Given the description of an element on the screen output the (x, y) to click on. 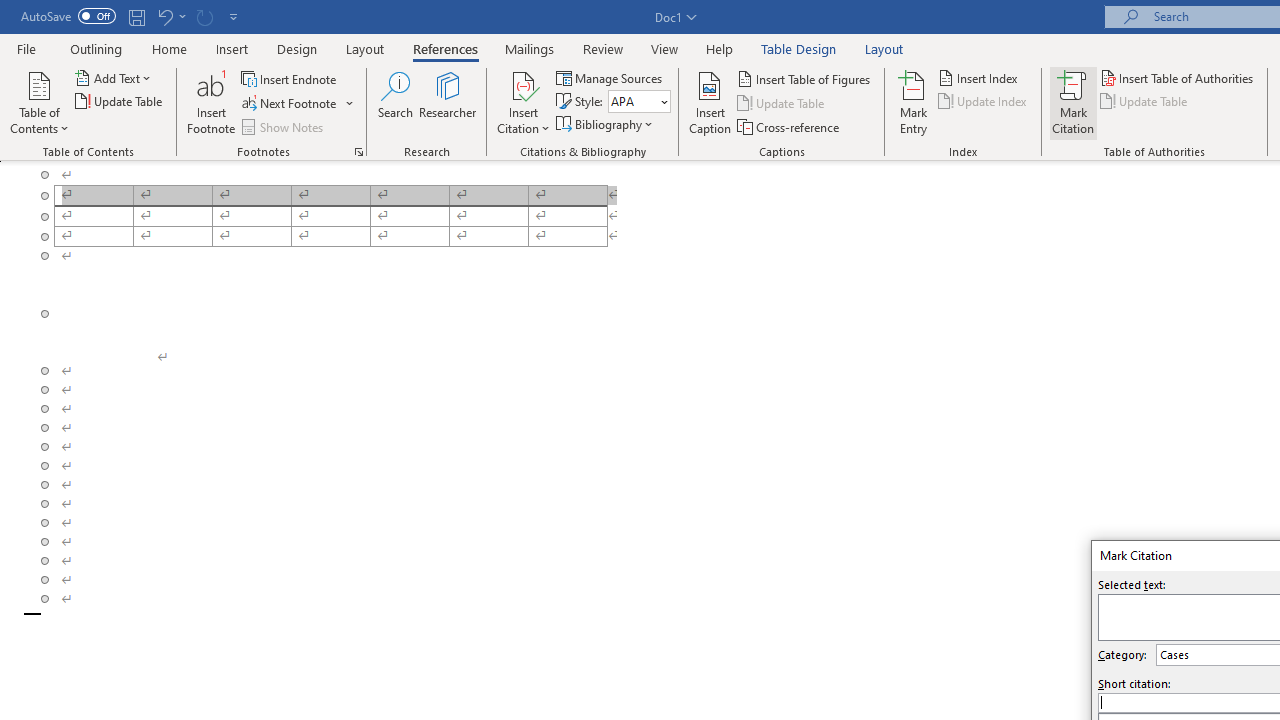
Outlining (95, 48)
